Given the description of an element on the screen output the (x, y) to click on. 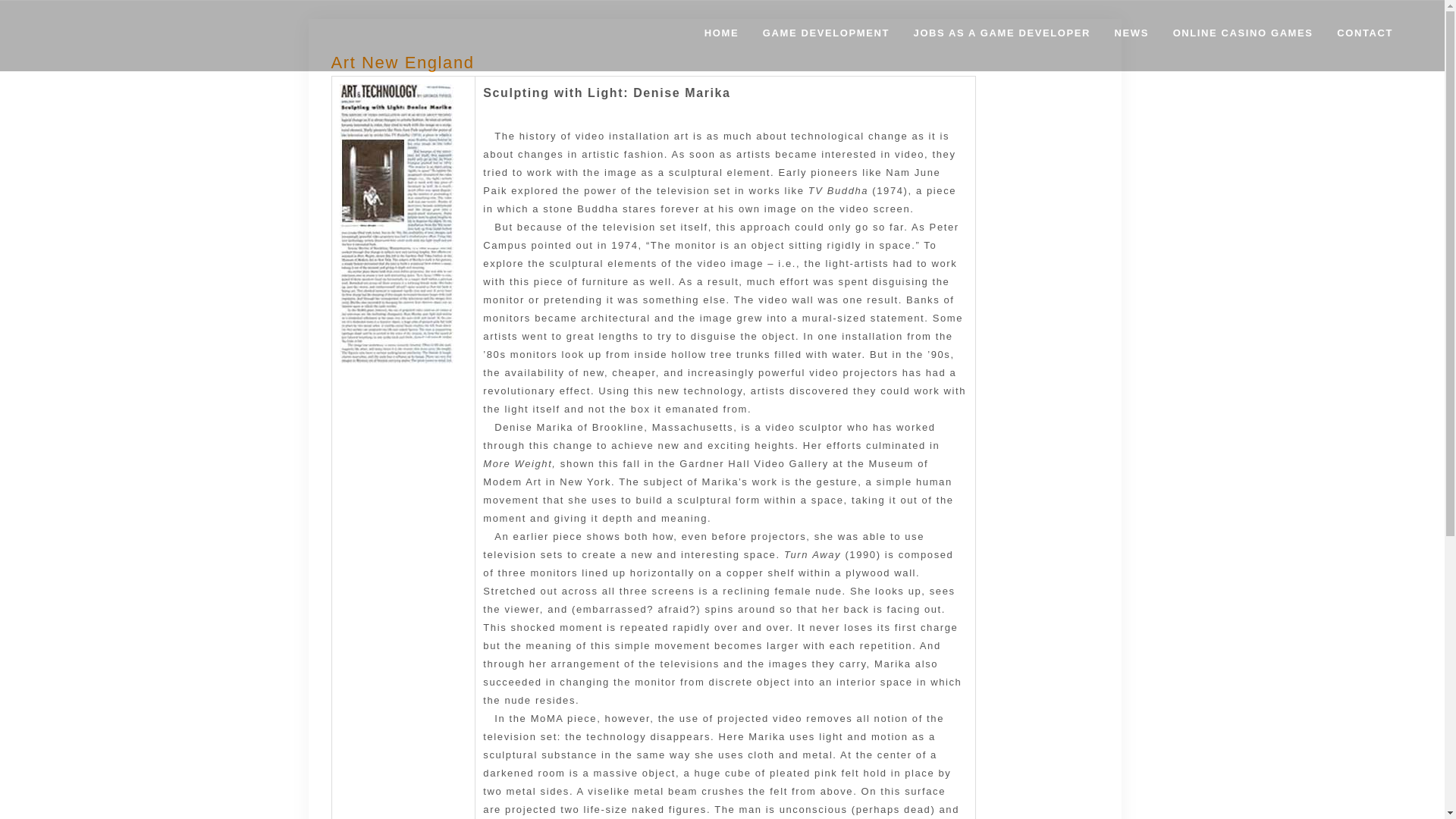
CONTACT (1364, 36)
Art New England (402, 62)
HOME (721, 36)
ONLINE CASINO GAMES (1243, 36)
NEWS (1131, 36)
JOBS AS A GAME DEVELOPER (1001, 36)
GAME DEVELOPMENT (826, 36)
